Given the description of an element on the screen output the (x, y) to click on. 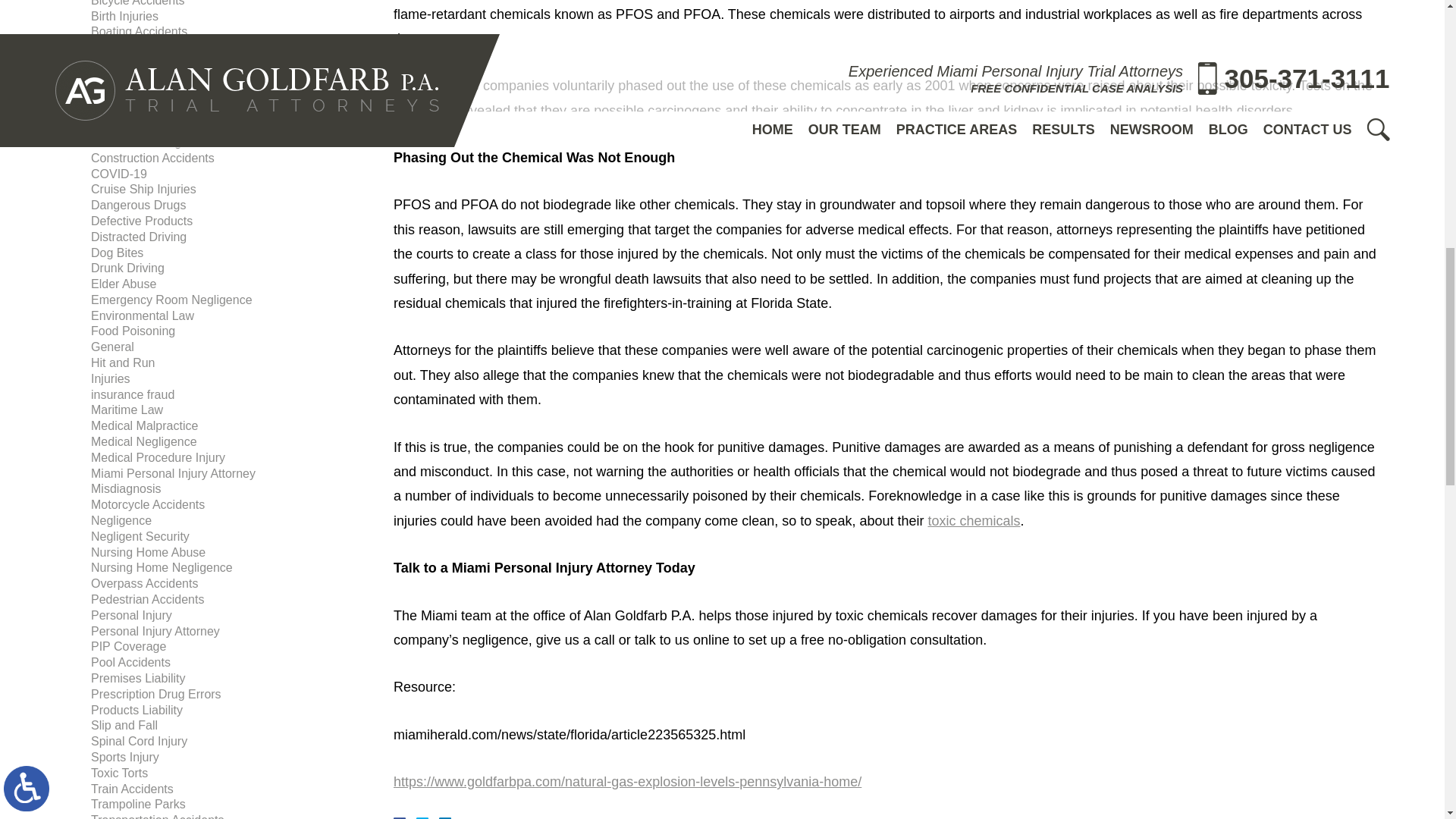
LinkedIn (438, 818)
Twitter (428, 818)
Facebook (417, 818)
